Given the description of an element on the screen output the (x, y) to click on. 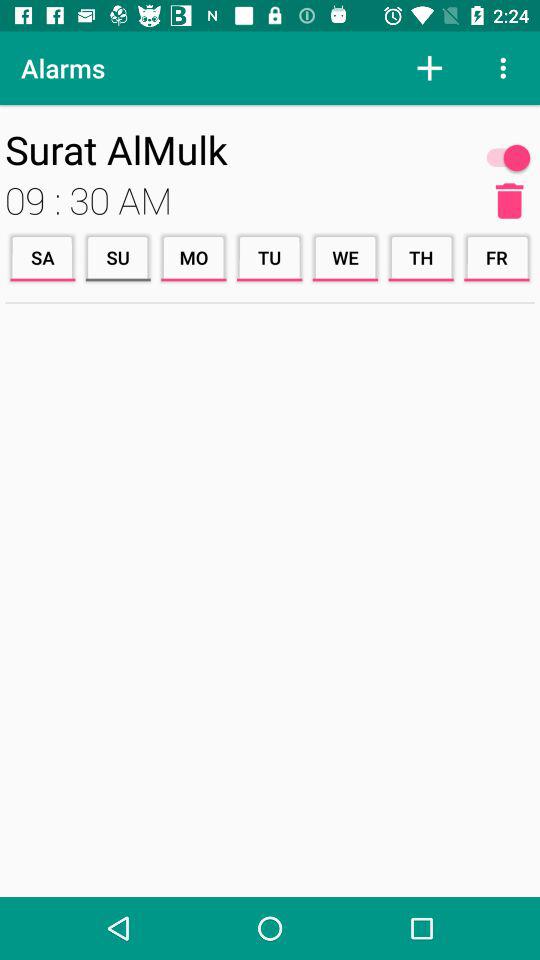
scroll to we (345, 257)
